Given the description of an element on the screen output the (x, y) to click on. 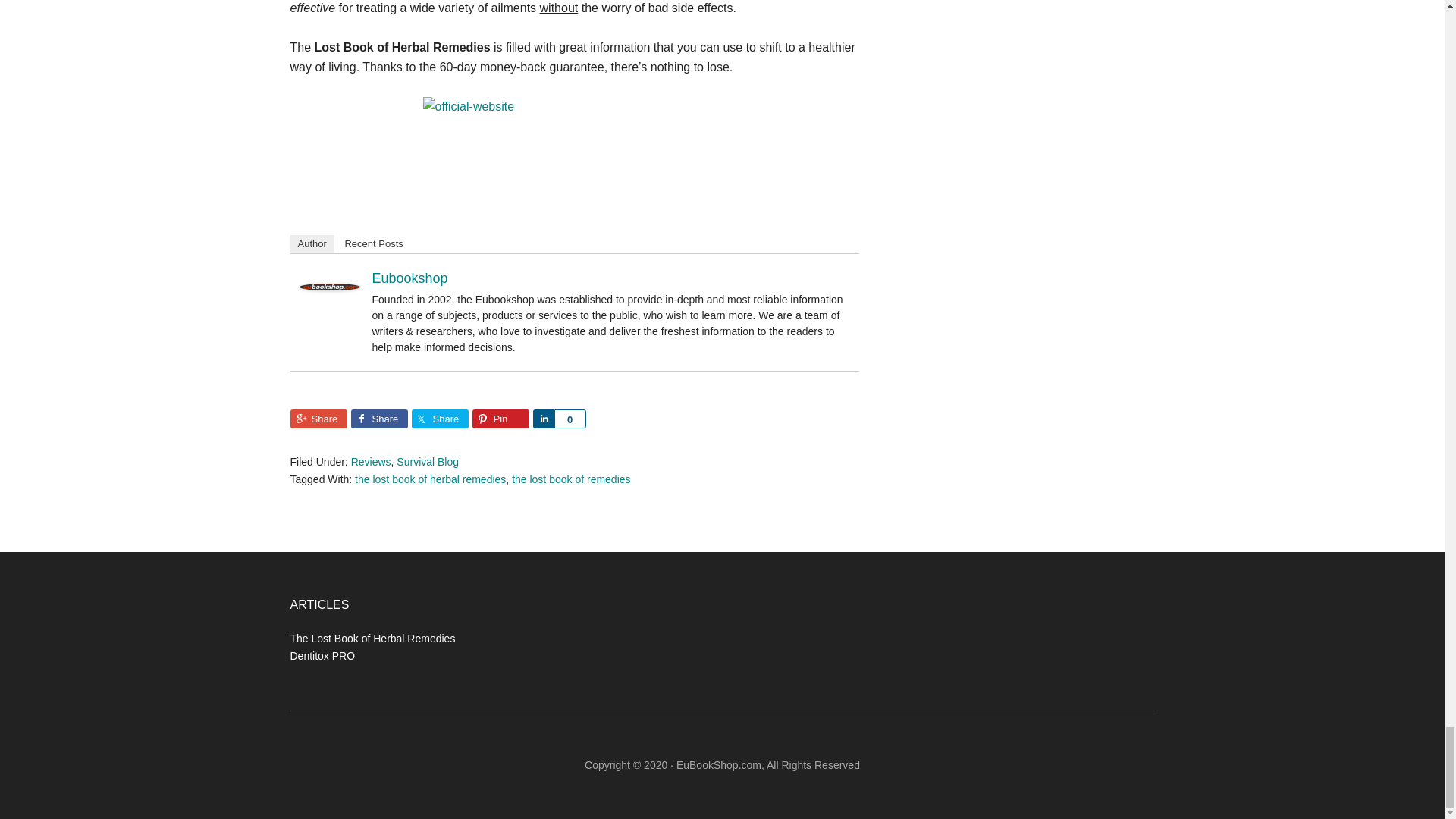
Eubookshop (408, 278)
Eubookshop (328, 286)
Author (311, 244)
Share (317, 418)
Recent Posts (373, 244)
